Given the description of an element on the screen output the (x, y) to click on. 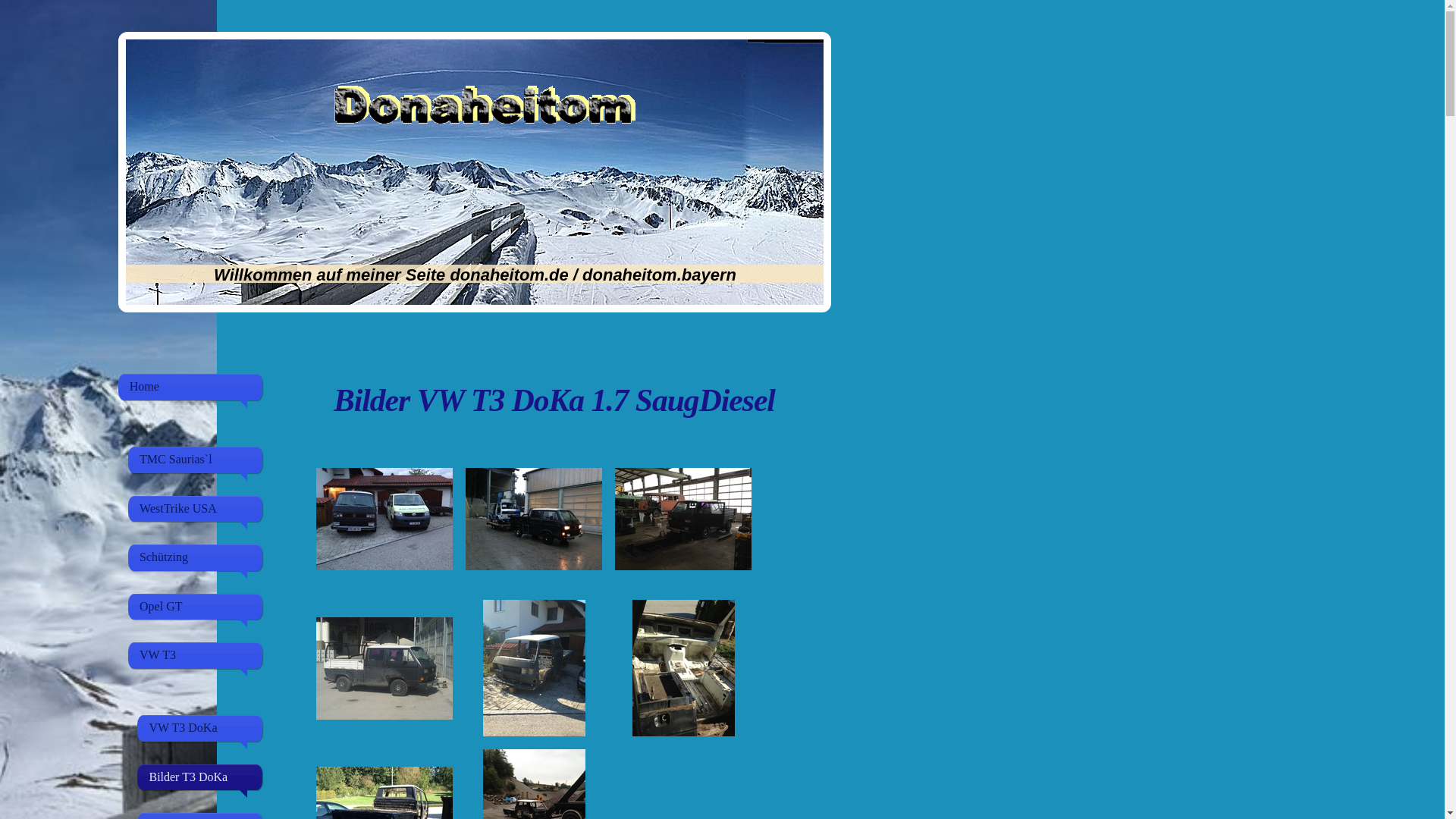
VW T3 Element type: text (195, 655)
da lebt er noch Element type: hover (384, 668)
1.7 Saugdiesel so endet er Element type: hover (534, 667)
Opel GT Element type: text (195, 606)
ausgeweidet Element type: hover (683, 667)
VW T3 DoKa Element type: text (199, 727)
Nummer 2  Element type: hover (533, 518)
TMC Saurias`l Element type: text (195, 459)
es war einmal Element type: hover (384, 518)
Bilder T3 DoKa Element type: text (199, 777)
WestTrike USA Element type: text (195, 508)
Home Element type: text (190, 386)
Reparatur Gasseil Element type: hover (683, 518)
